Given the description of an element on the screen output the (x, y) to click on. 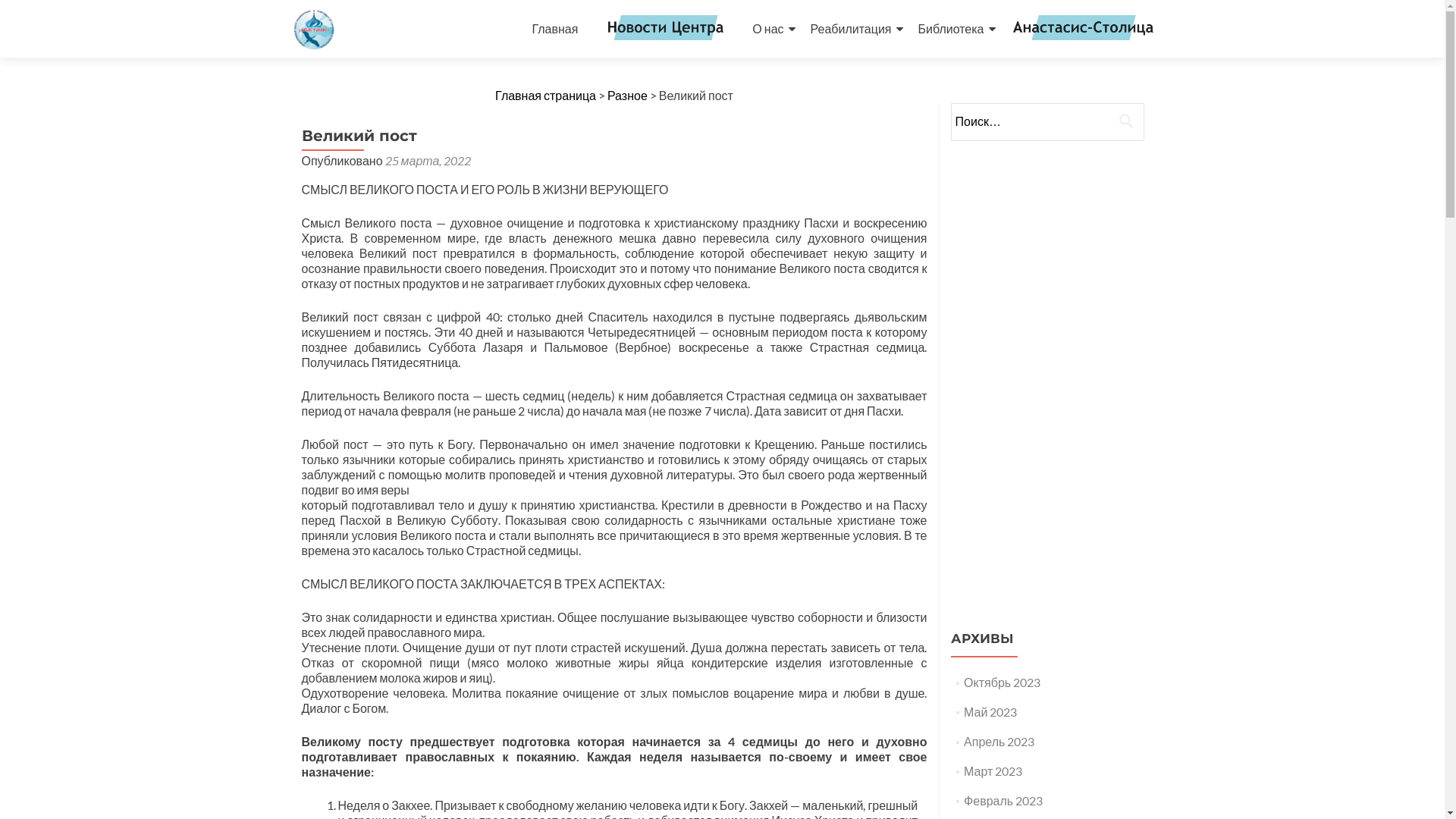
Advertisement Element type: hover (1046, 379)
